Given the description of an element on the screen output the (x, y) to click on. 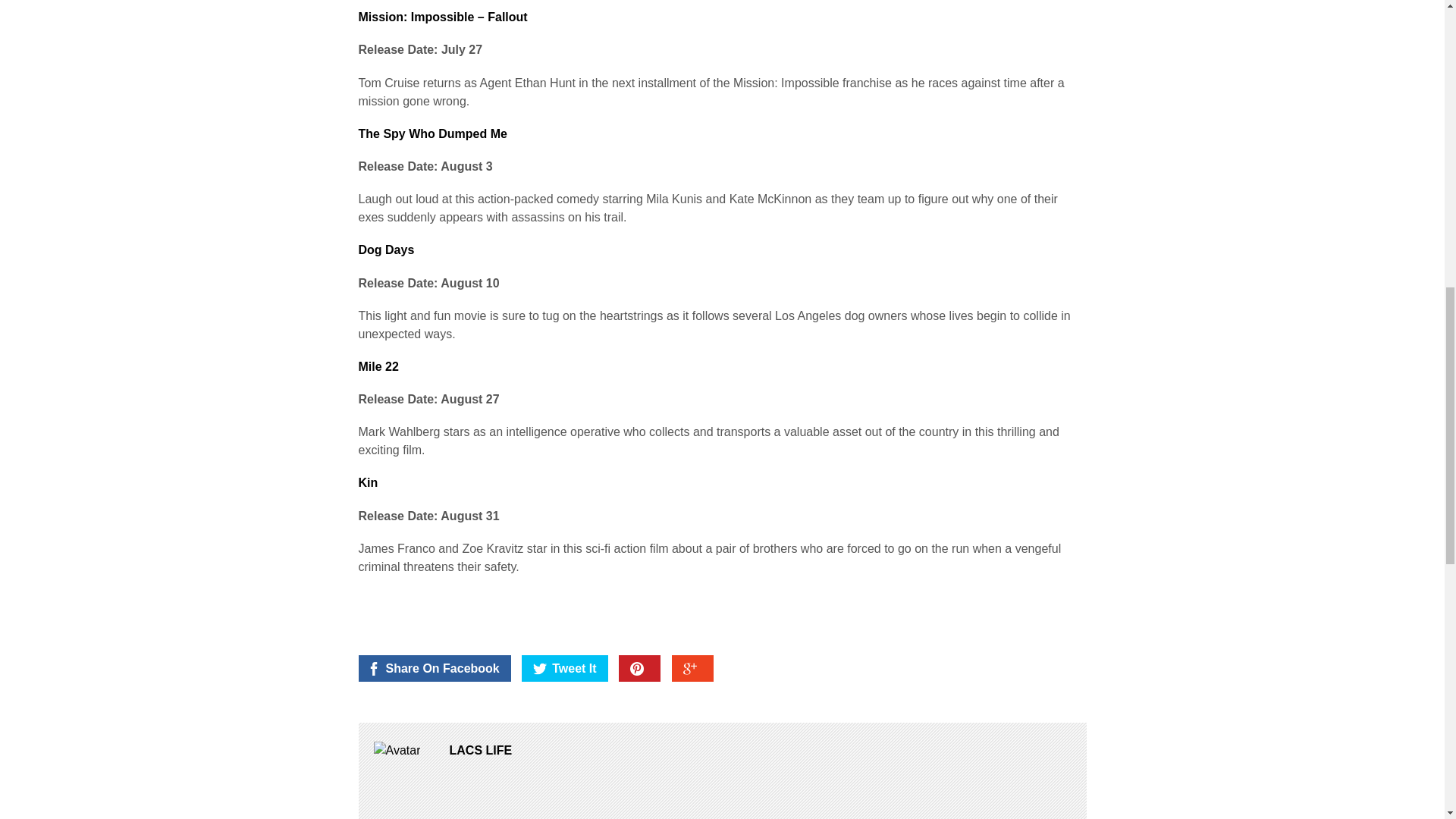
Kin (367, 481)
Share On Facebook (434, 668)
Tweet It (564, 668)
Mile 22 (377, 366)
The Spy Who Dumped Me (432, 133)
Dog Days (385, 249)
